Given the description of an element on the screen output the (x, y) to click on. 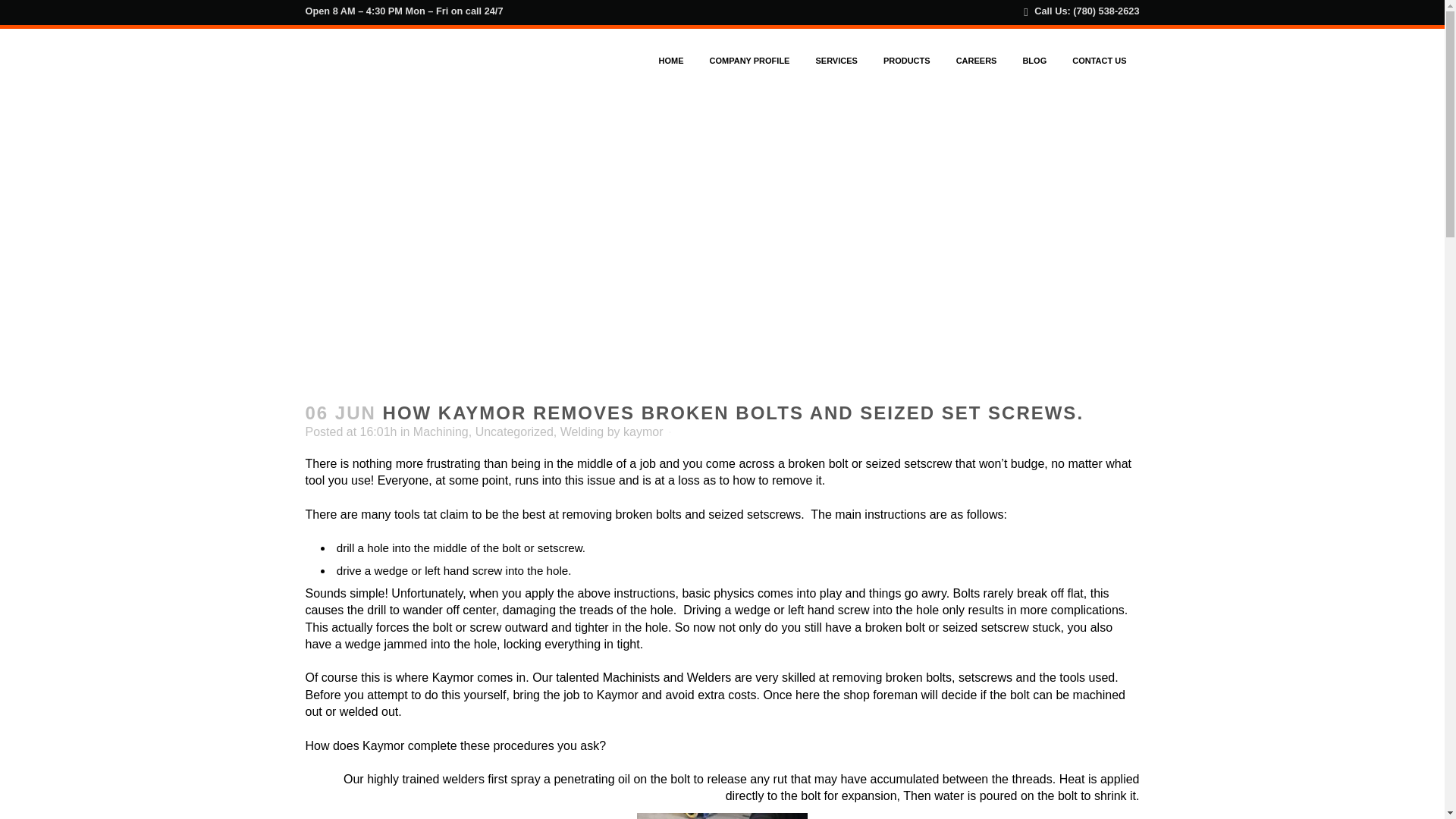
COMPANY PROFILE (750, 60)
PRODUCTS (906, 60)
SERVICES (835, 60)
CONTACT US (1098, 60)
BLOG (1034, 60)
HOME (671, 60)
CAREERS (976, 60)
